Given the description of an element on the screen output the (x, y) to click on. 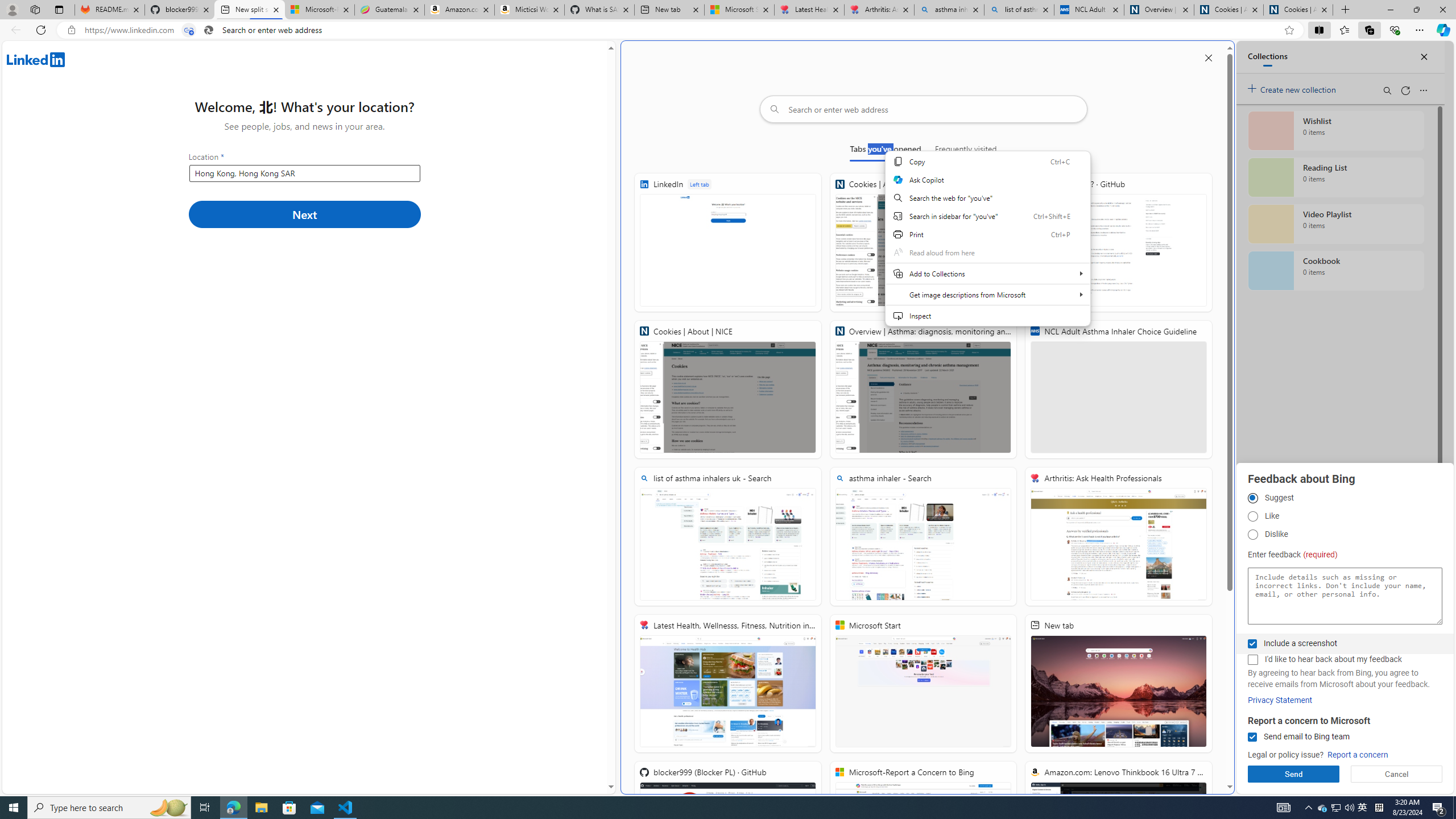
asthma inhaler - Search (922, 536)
Read aloud from here (987, 252)
Ask Copilot (987, 179)
Privacy Statement (1280, 700)
Web context (987, 238)
Frequently visited (965, 151)
Inspect (987, 315)
asthma inhaler - Search (949, 9)
Tabs you've opened (885, 151)
